Given the description of an element on the screen output the (x, y) to click on. 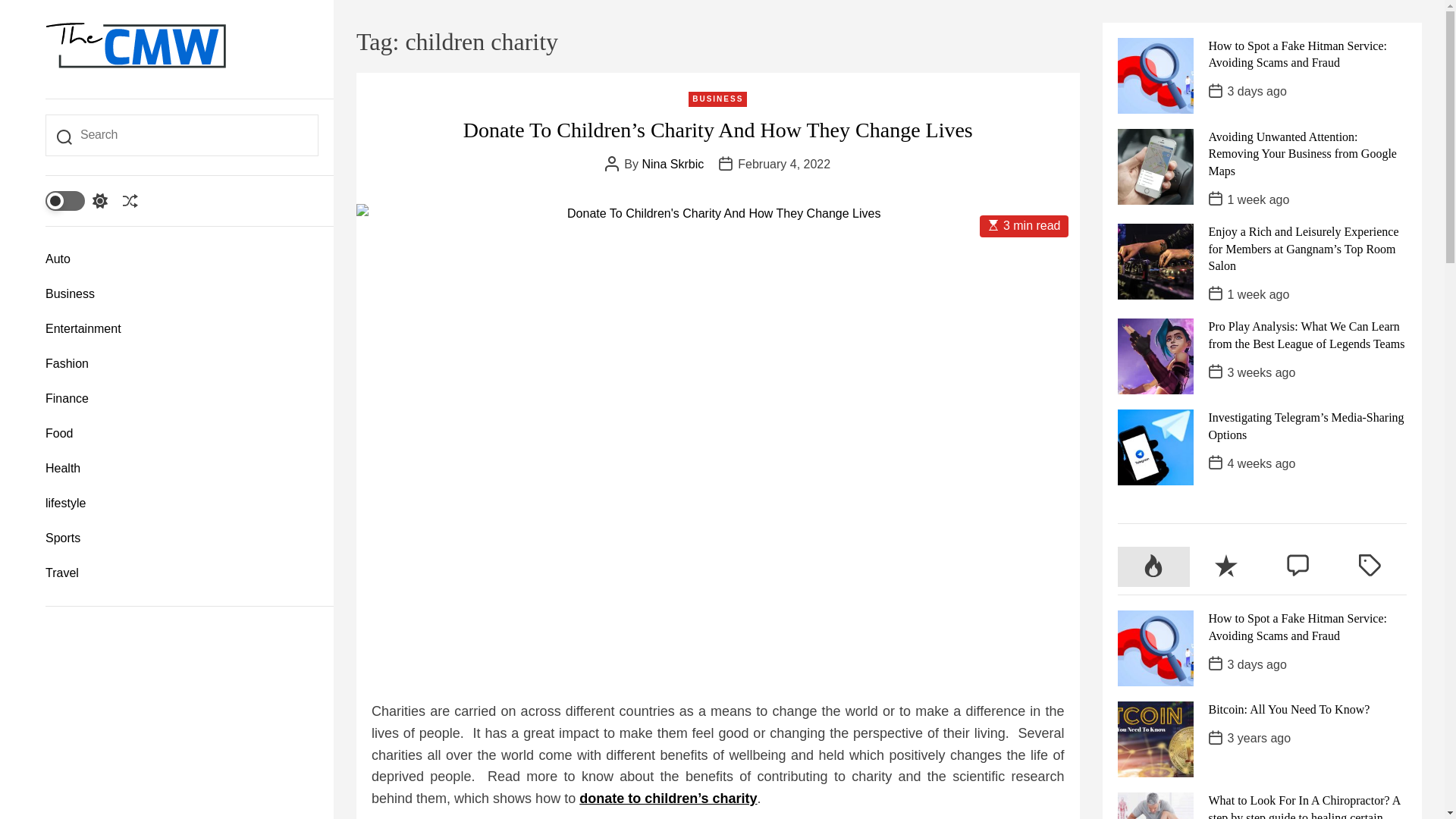
How to Spot a Fake Hitman Service: Avoiding Scams and Fraud (1297, 53)
Comment (1297, 567)
Fashion (181, 363)
Health (181, 468)
Nina Skrbic (672, 164)
Recent (1225, 567)
lifestyle (181, 503)
Shuffle (130, 200)
Popular (1153, 567)
Travel (181, 573)
Entertainment (181, 329)
Food (181, 433)
Tagged (1370, 567)
